Given the description of an element on the screen output the (x, y) to click on. 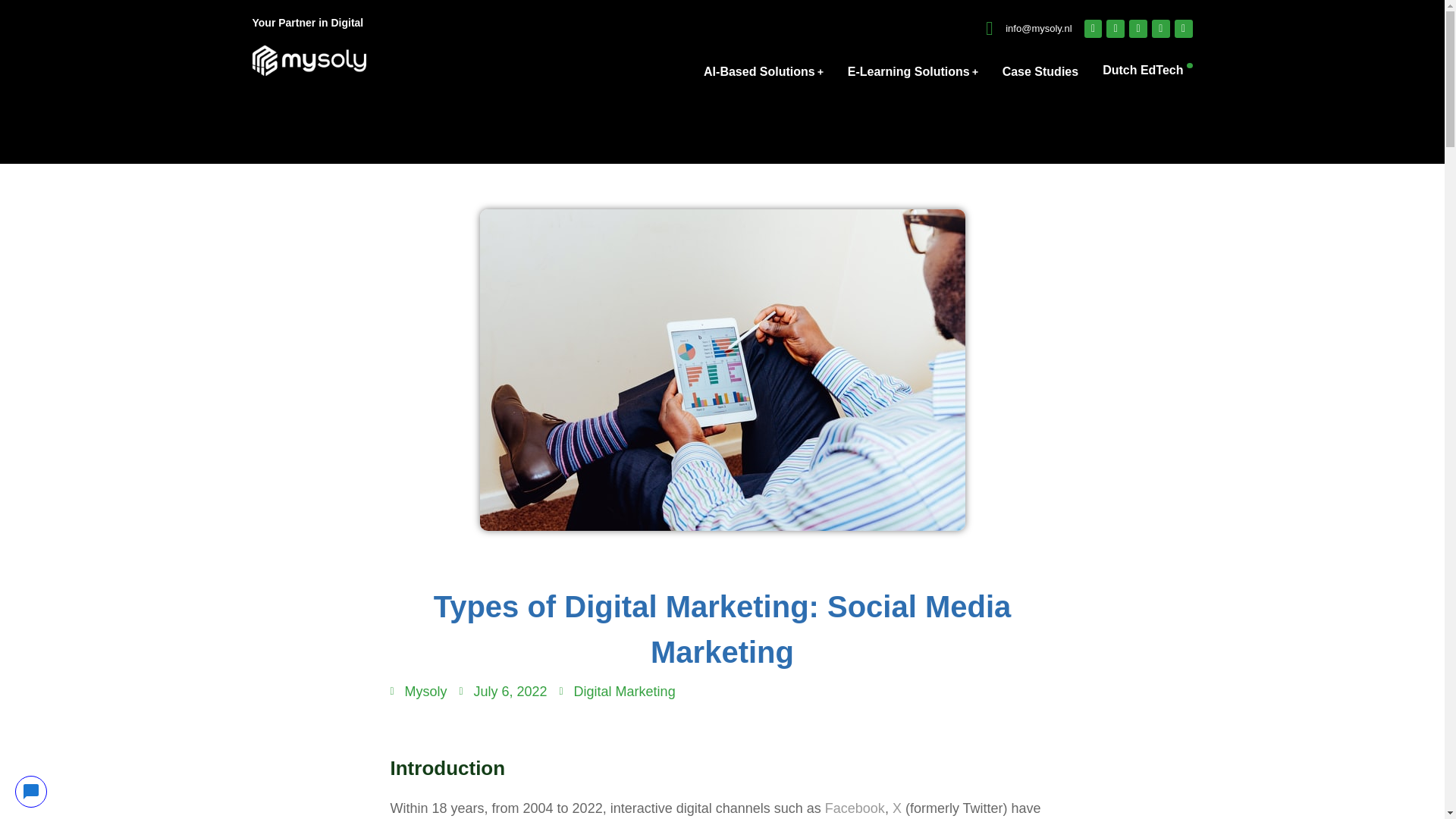
Facebook (855, 807)
Digital Marketing (624, 691)
Dutch EdTech (1147, 72)
July 6, 2022 (503, 691)
Mysoly (418, 691)
Case Studies (1040, 72)
AI-Based Solutions (763, 72)
E-Learning Solutions (912, 72)
